Given the description of an element on the screen output the (x, y) to click on. 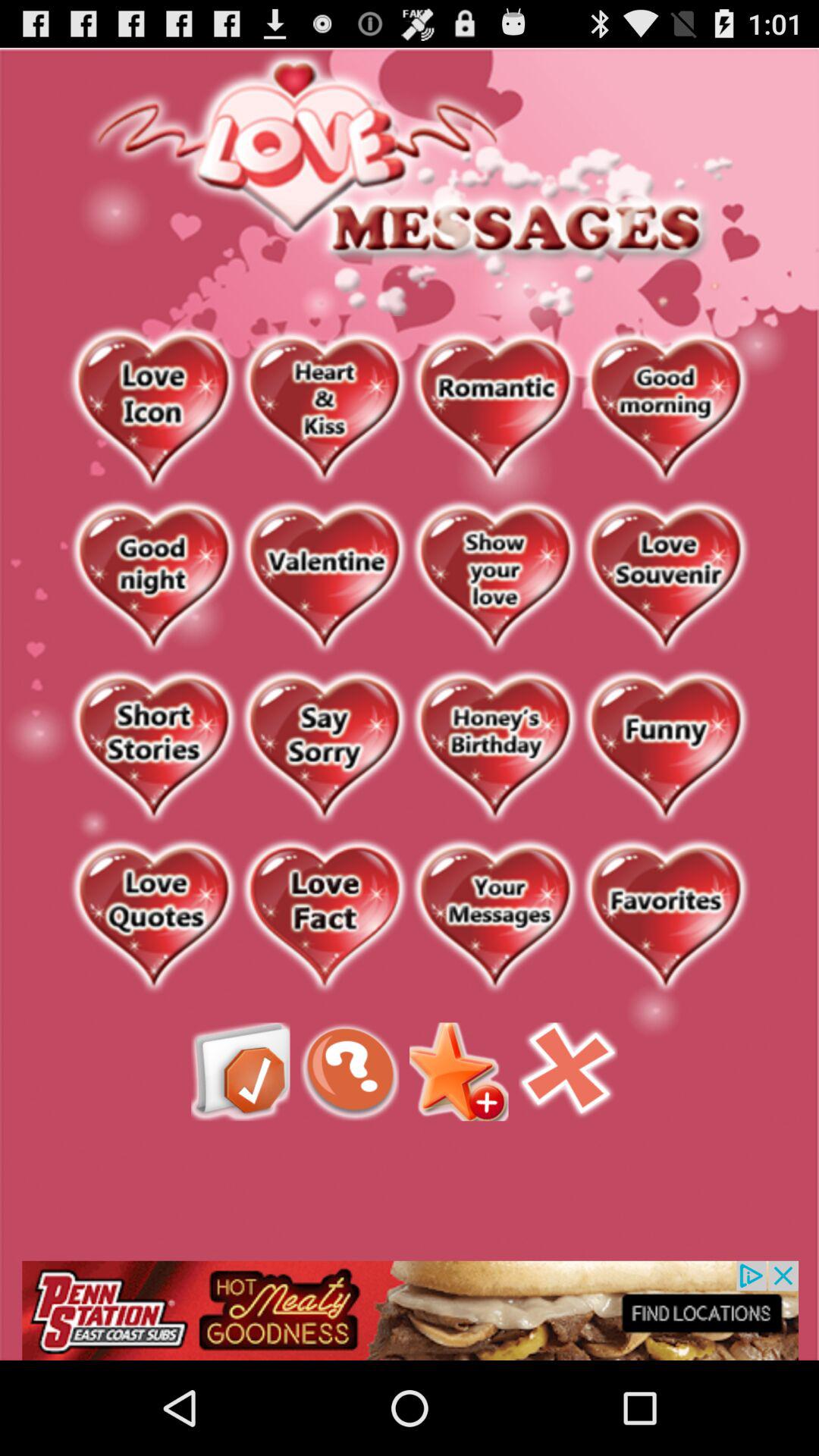
open love quotes (153, 917)
